Given the description of an element on the screen output the (x, y) to click on. 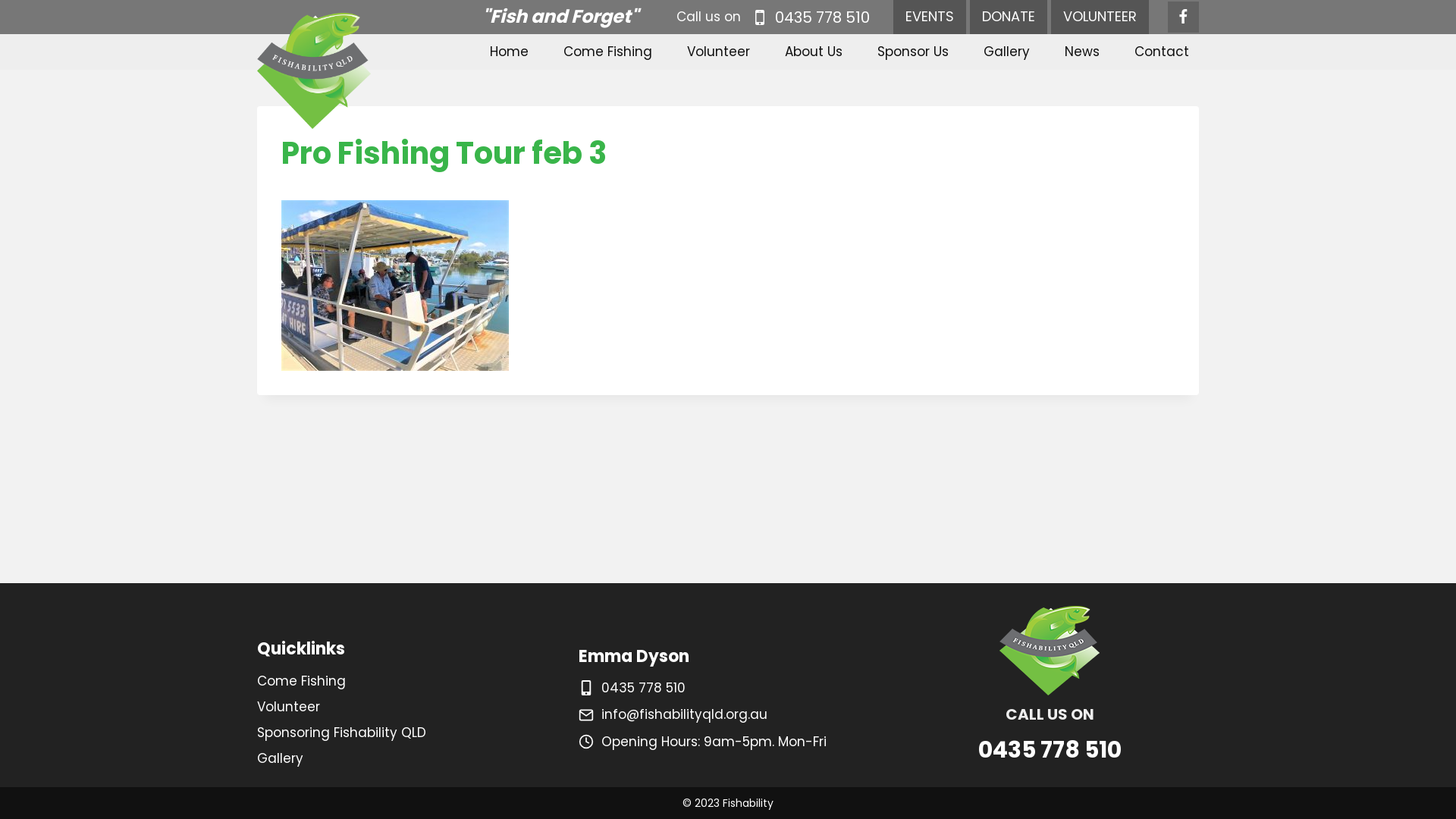
Home Element type: text (509, 52)
0435 778 510 Element type: text (643, 687)
Gallery Element type: text (1006, 52)
info@fishabilityqld.org.au Element type: text (684, 714)
DONATE Element type: text (1008, 17)
News Element type: text (1081, 52)
Contact Element type: text (1161, 52)
0435 778 510 Element type: text (809, 17)
Come Fishing Element type: text (406, 681)
Volunteer Element type: text (406, 707)
VOLUNTEER Element type: text (1099, 17)
About Us Element type: text (813, 52)
EVENTS Element type: text (929, 17)
Sponsor Us Element type: text (912, 52)
Volunteer Element type: text (718, 52)
Come Fishing Element type: text (607, 52)
Sponsoring Fishability QLD Element type: text (406, 733)
Gallery Element type: text (406, 758)
